Given the description of an element on the screen output the (x, y) to click on. 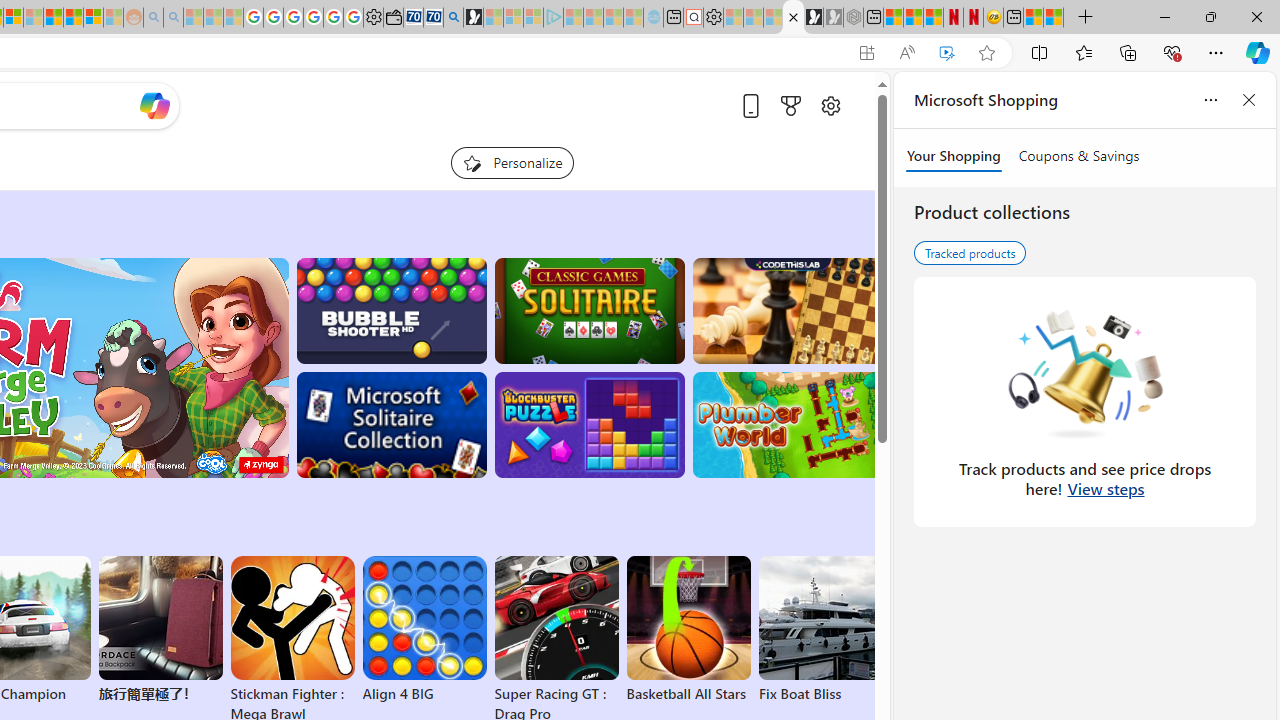
Fix Boat Bliss (820, 694)
Master Chess (787, 310)
Personalize your feed" (511, 162)
BlockBuster: Adventures Puzzle (589, 425)
